Given the description of an element on the screen output the (x, y) to click on. 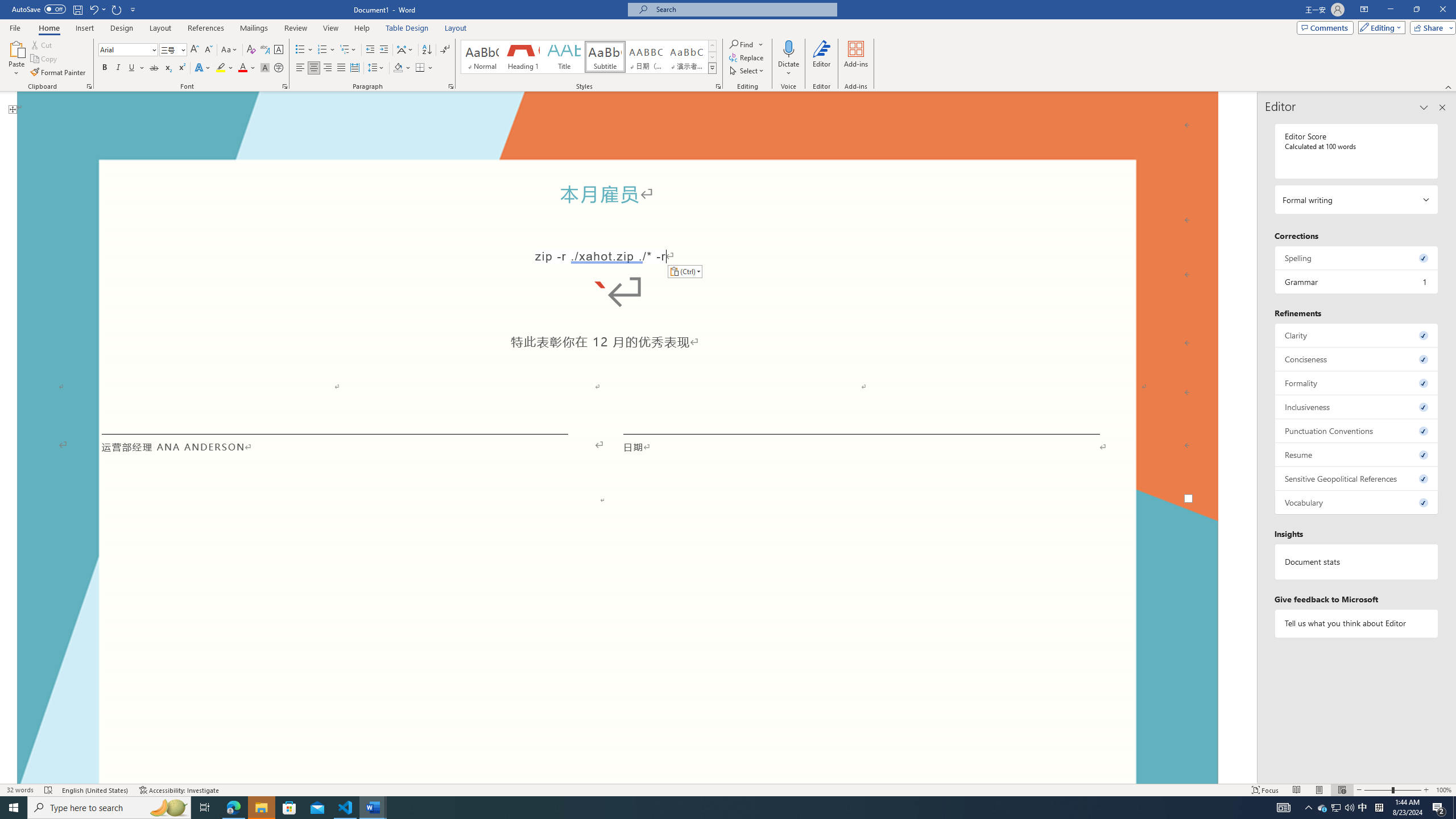
Replace... (747, 56)
Character Shading (264, 67)
Shading RGB(0, 0, 0) (397, 67)
Class: NetUIScrollBar (1251, 437)
Document statistics (1356, 561)
Action: Paste alternatives (684, 271)
Spelling and Grammar Check Errors (48, 790)
Line and Paragraph Spacing (376, 67)
Title (564, 56)
Text Effects and Typography (202, 67)
